Given the description of an element on the screen output the (x, y) to click on. 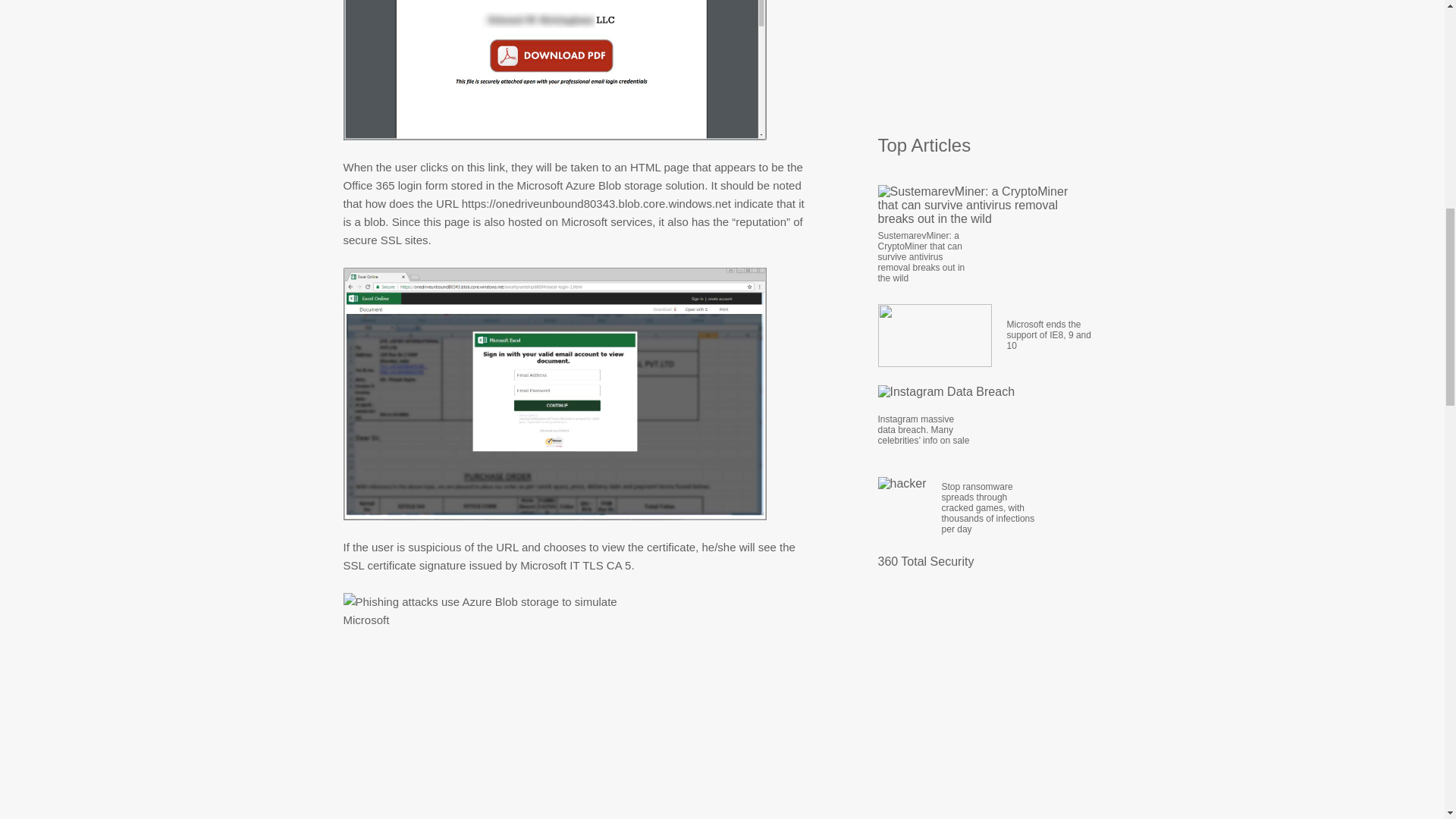
360 Total Security (925, 561)
Microsoft ends the support of IE8, 9 and 10 (1054, 334)
Microsoft ends the support of IE8, 9 and 10 (1054, 334)
